Given the description of an element on the screen output the (x, y) to click on. 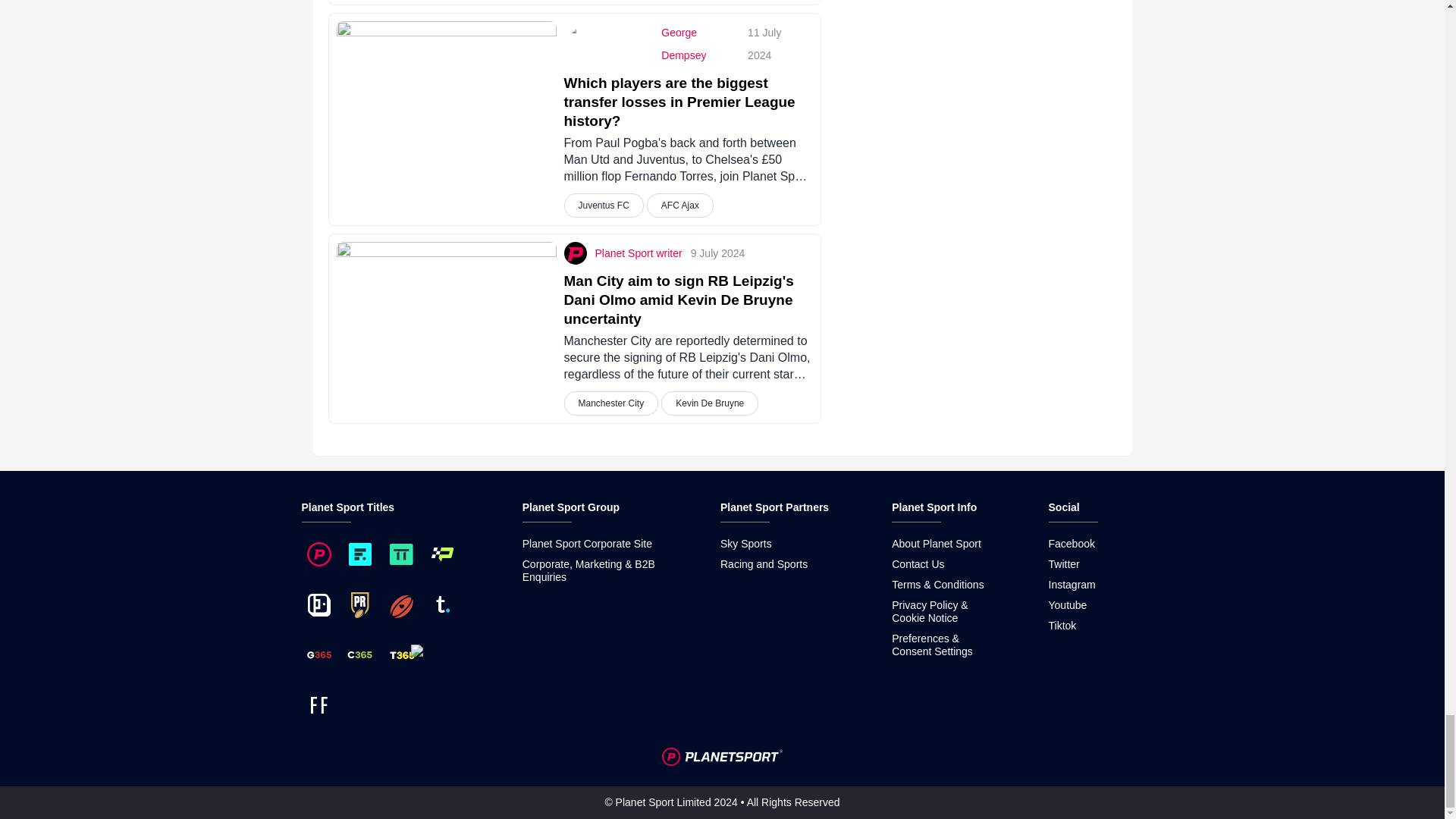
About Planet Sport (936, 543)
